Given the description of an element on the screen output the (x, y) to click on. 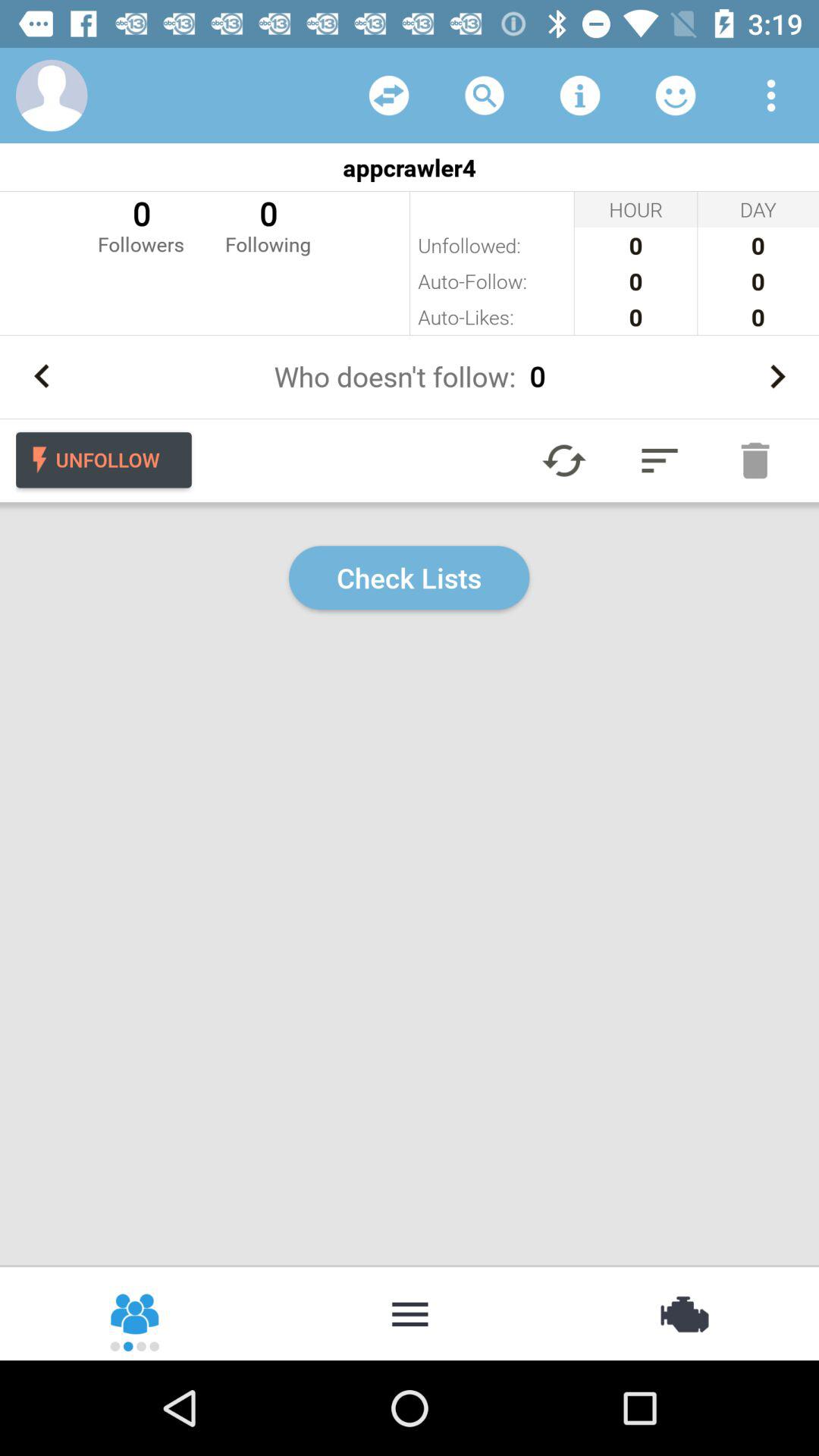
refresh (563, 460)
